Given the description of an element on the screen output the (x, y) to click on. 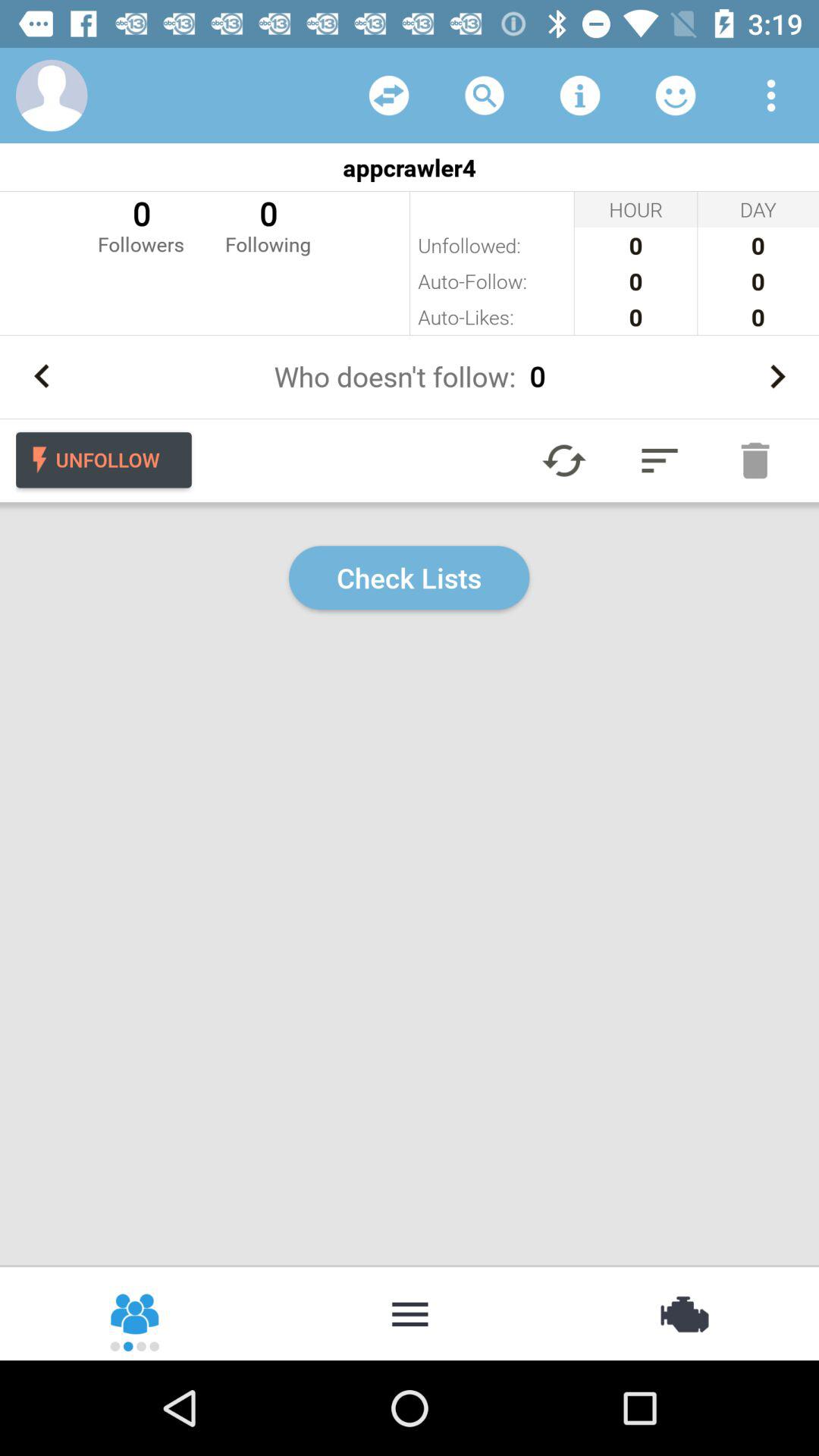
refresh (563, 460)
